Given the description of an element on the screen output the (x, y) to click on. 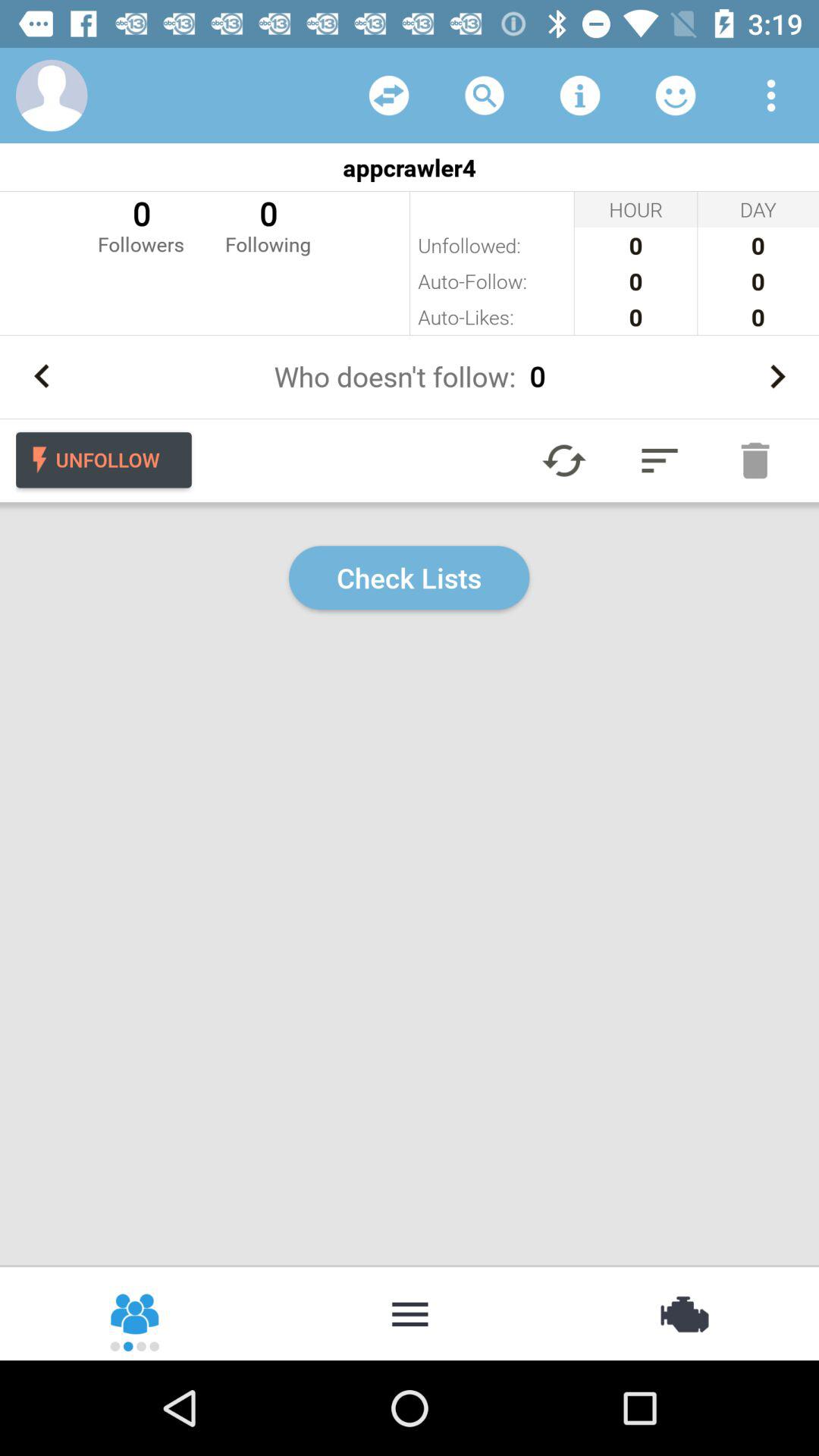
refresh (563, 460)
